Given the description of an element on the screen output the (x, y) to click on. 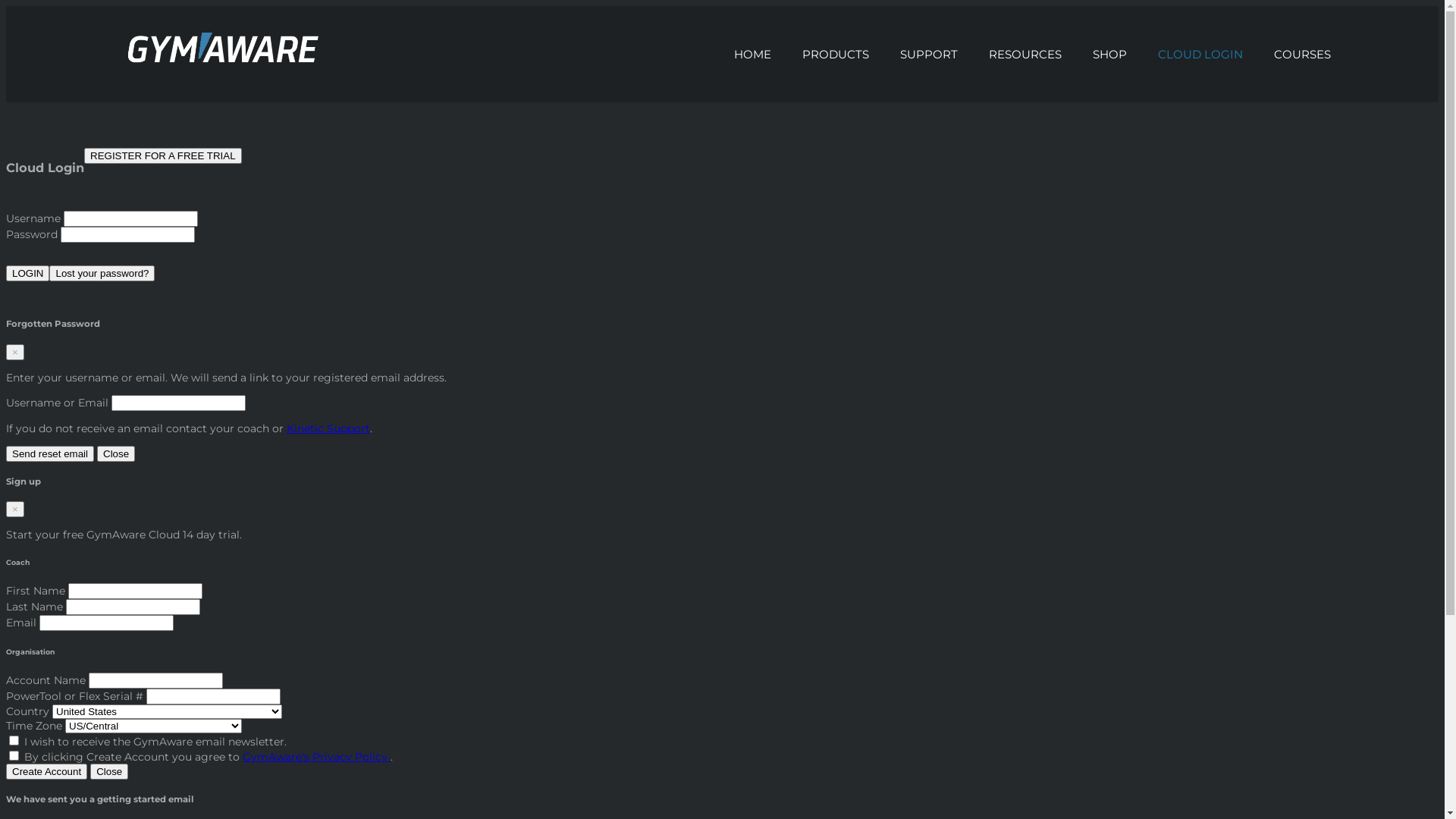
Send reset email Element type: text (50, 453)
Close Element type: text (109, 771)
REGISTER FOR A FREE TRIAL Element type: text (162, 155)
CLOUD LOGIN Element type: text (1200, 54)
Kinetic Support Element type: text (328, 428)
RESOURCES Element type: text (1025, 54)
LOGIN Element type: text (27, 273)
PRODUCTS Element type: text (835, 54)
Create Account Element type: text (46, 771)
COURSES Element type: text (1302, 54)
SHOP Element type: text (1109, 54)
HOME Element type: text (752, 54)
GymAware's Privacy Policy Element type: text (316, 756)
Close Element type: text (115, 453)
Lost your password? Element type: text (101, 273)
SUPPORT Element type: text (928, 54)
